Given the description of an element on the screen output the (x, y) to click on. 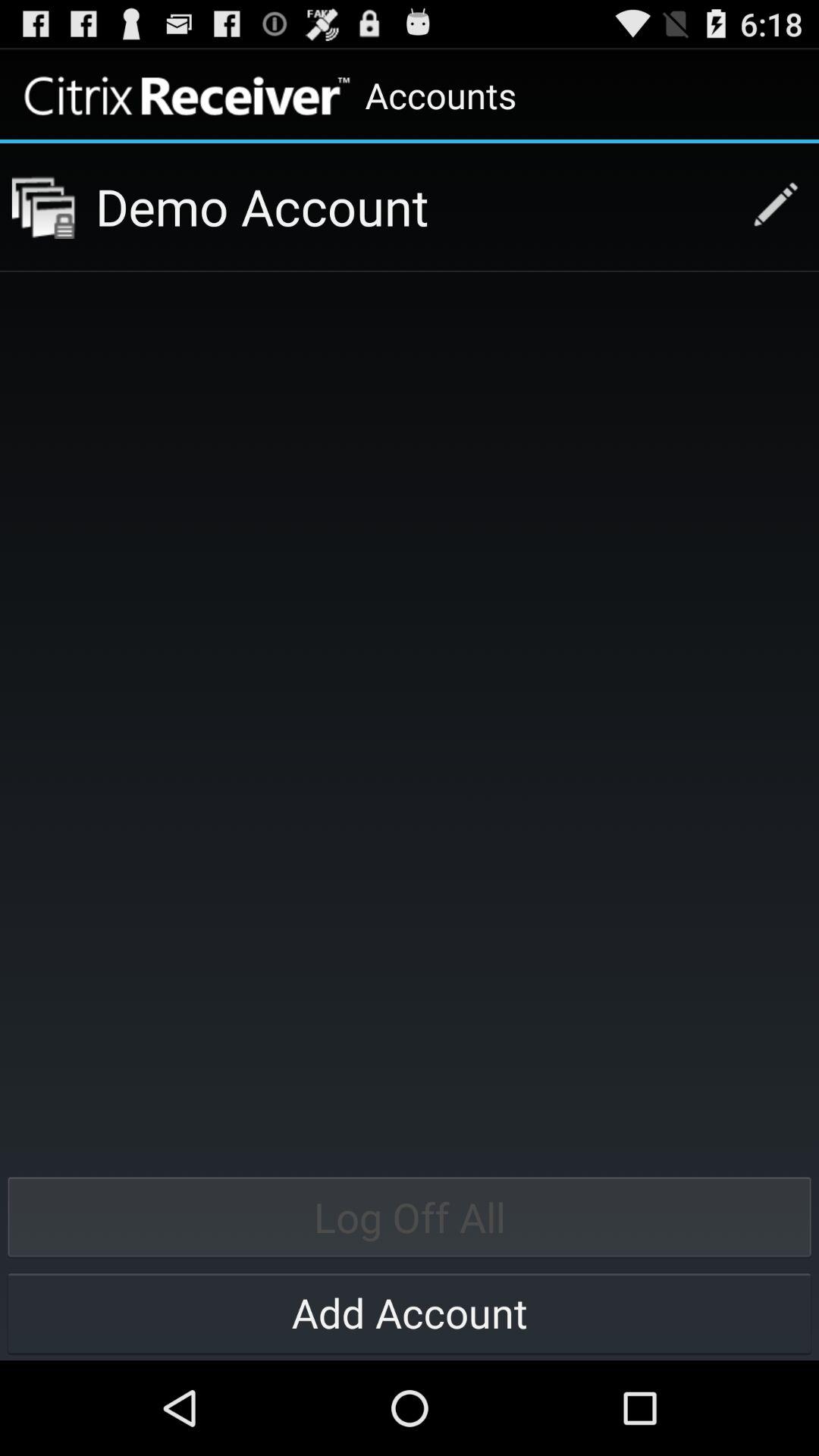
click demo account (412, 206)
